Given the description of an element on the screen output the (x, y) to click on. 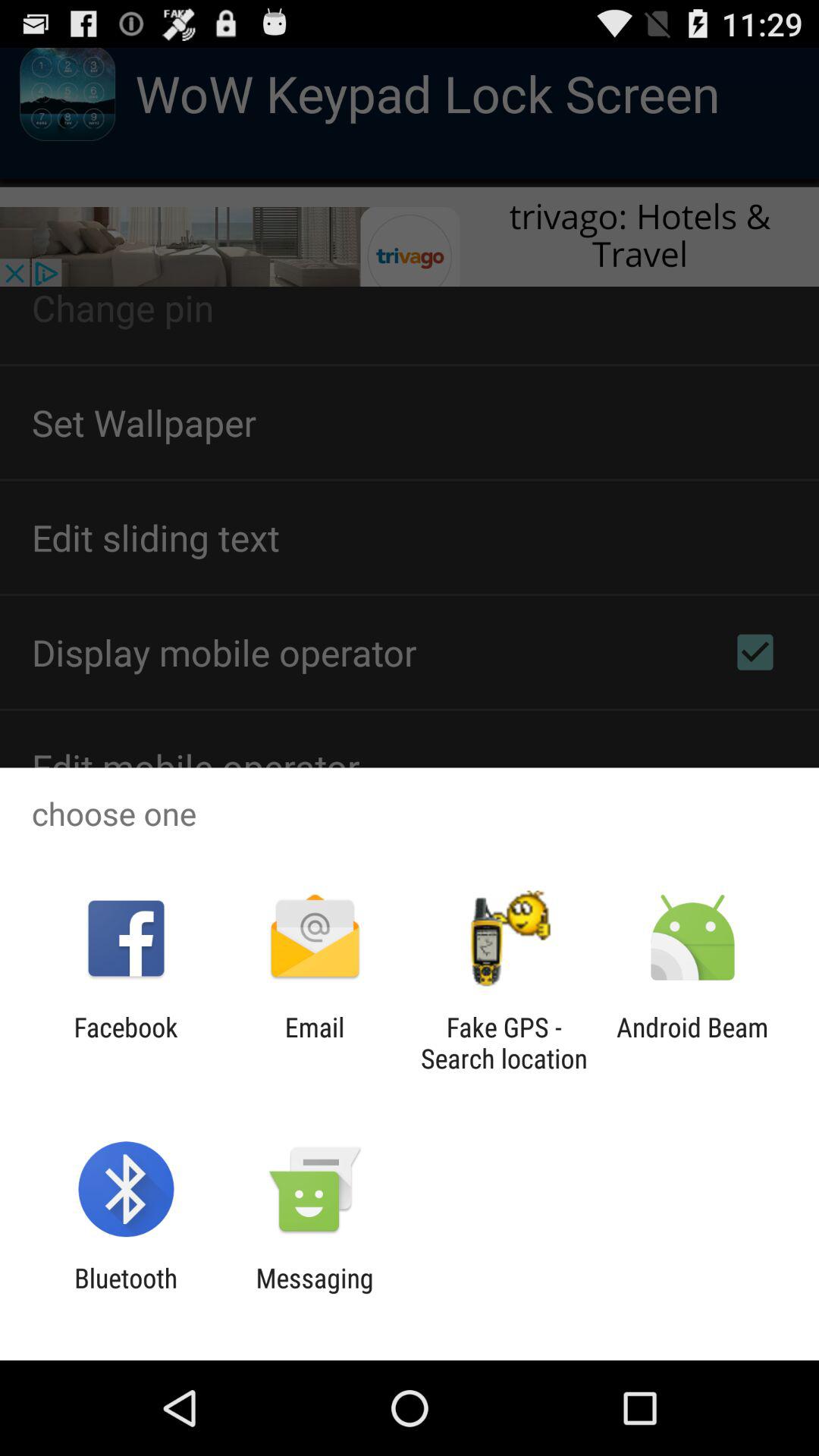
tap item next to email app (125, 1042)
